Given the description of an element on the screen output the (x, y) to click on. 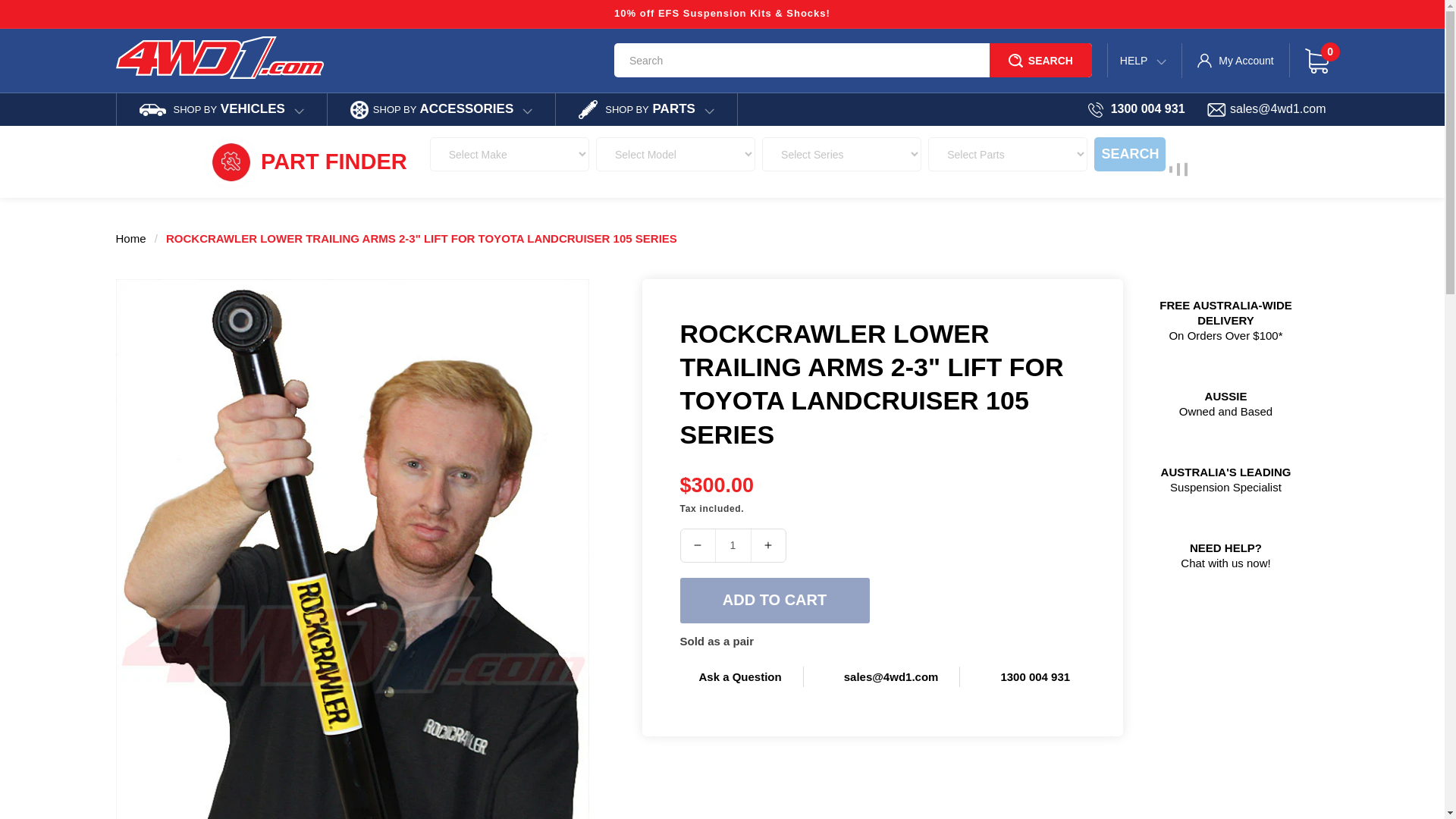
Skip to content (45, 16)
1300 004 931 (1025, 676)
1300 004 931 (1136, 109)
1 (732, 545)
Home (130, 237)
